Given the description of an element on the screen output the (x, y) to click on. 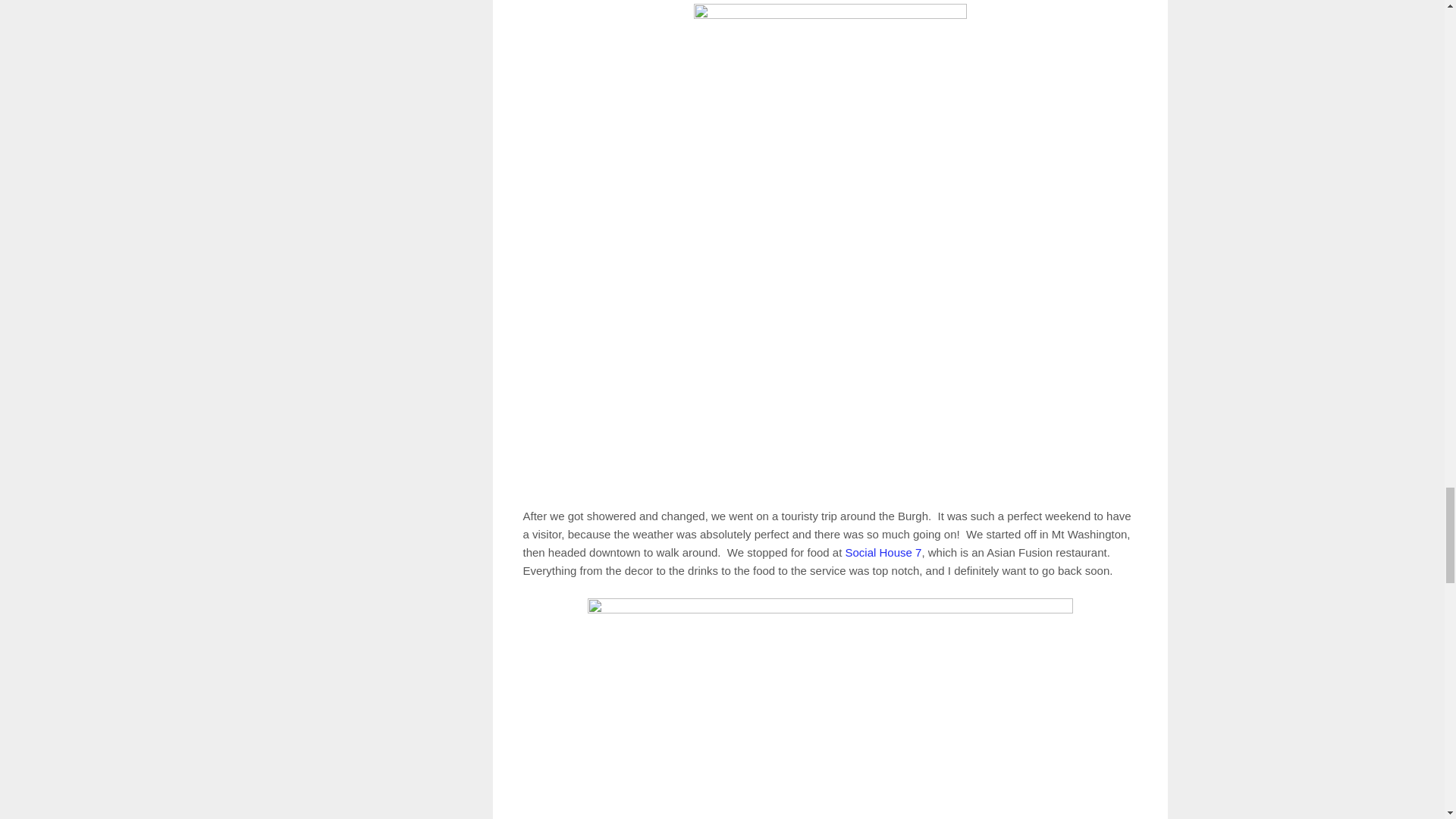
Social House 7 (883, 552)
